Given the description of an element on the screen output the (x, y) to click on. 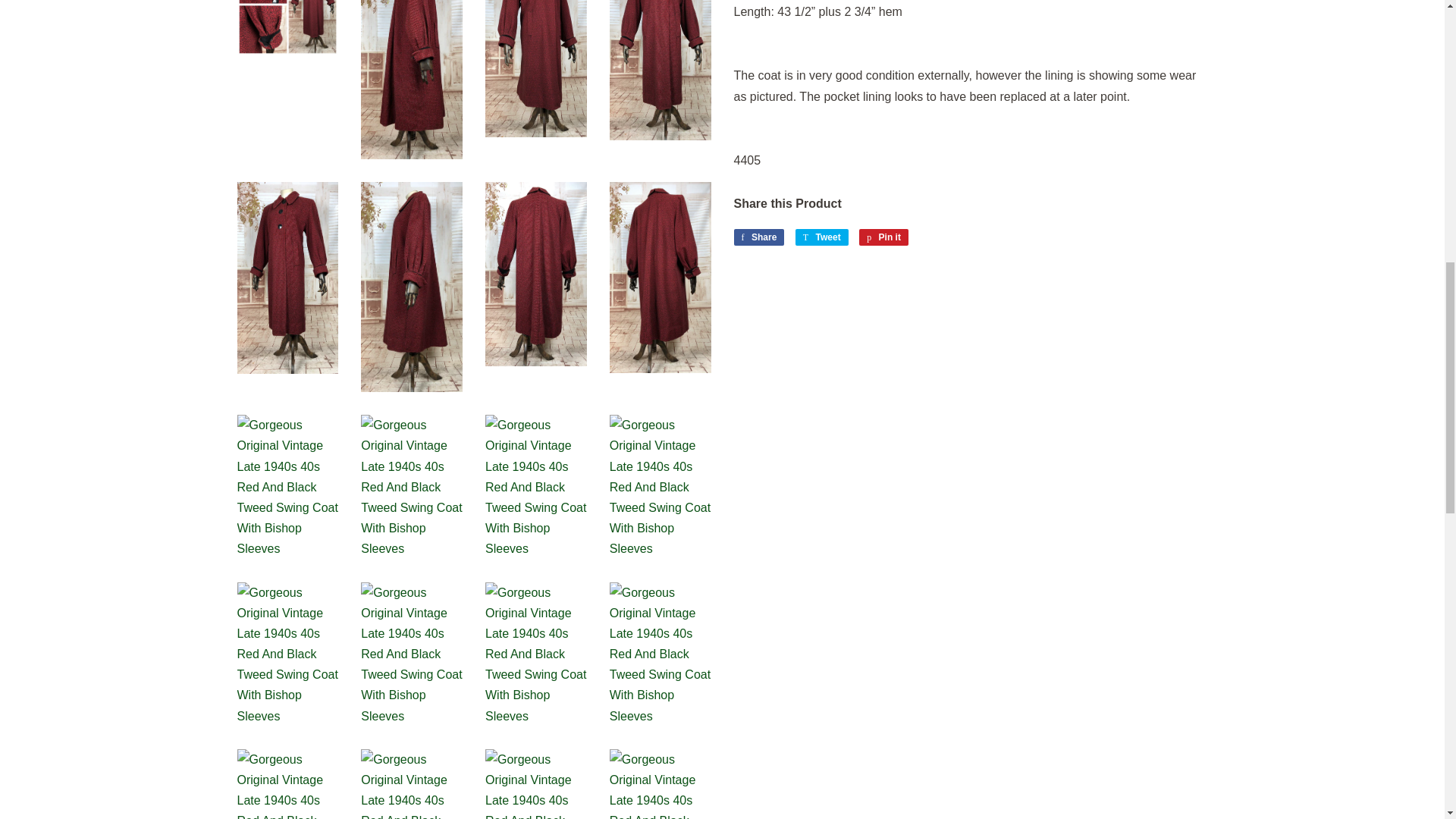
Share on Facebook (758, 237)
Tweet on Twitter (821, 237)
Pin on Pinterest (883, 237)
